Given the description of an element on the screen output the (x, y) to click on. 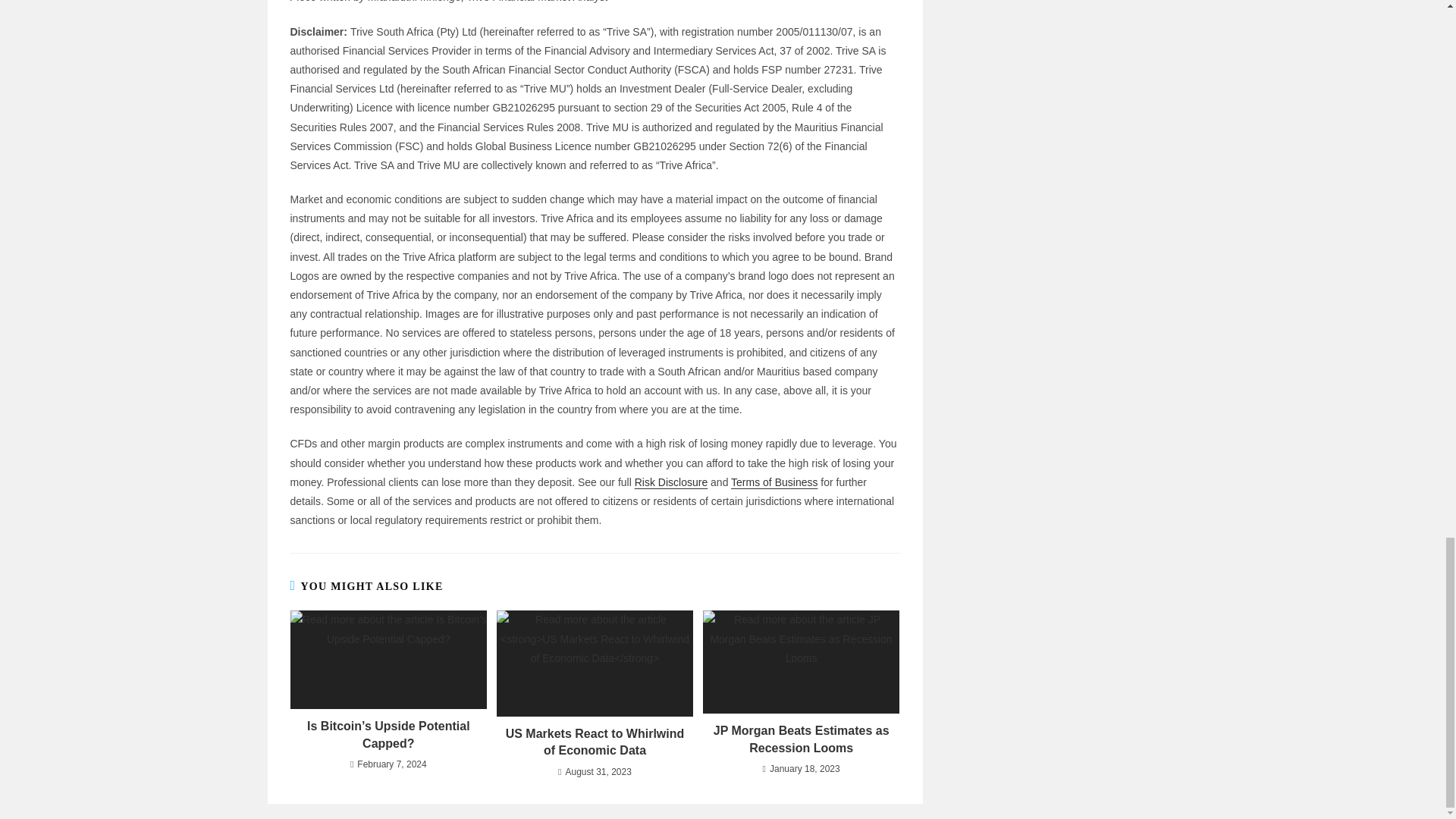
Terms of Business (773, 481)
Risk Disclosure (670, 481)
US Markets React to Whirlwind of Economic Data (594, 742)
JP Morgan Beats Estimates as Recession Looms (801, 739)
